Given the description of an element on the screen output the (x, y) to click on. 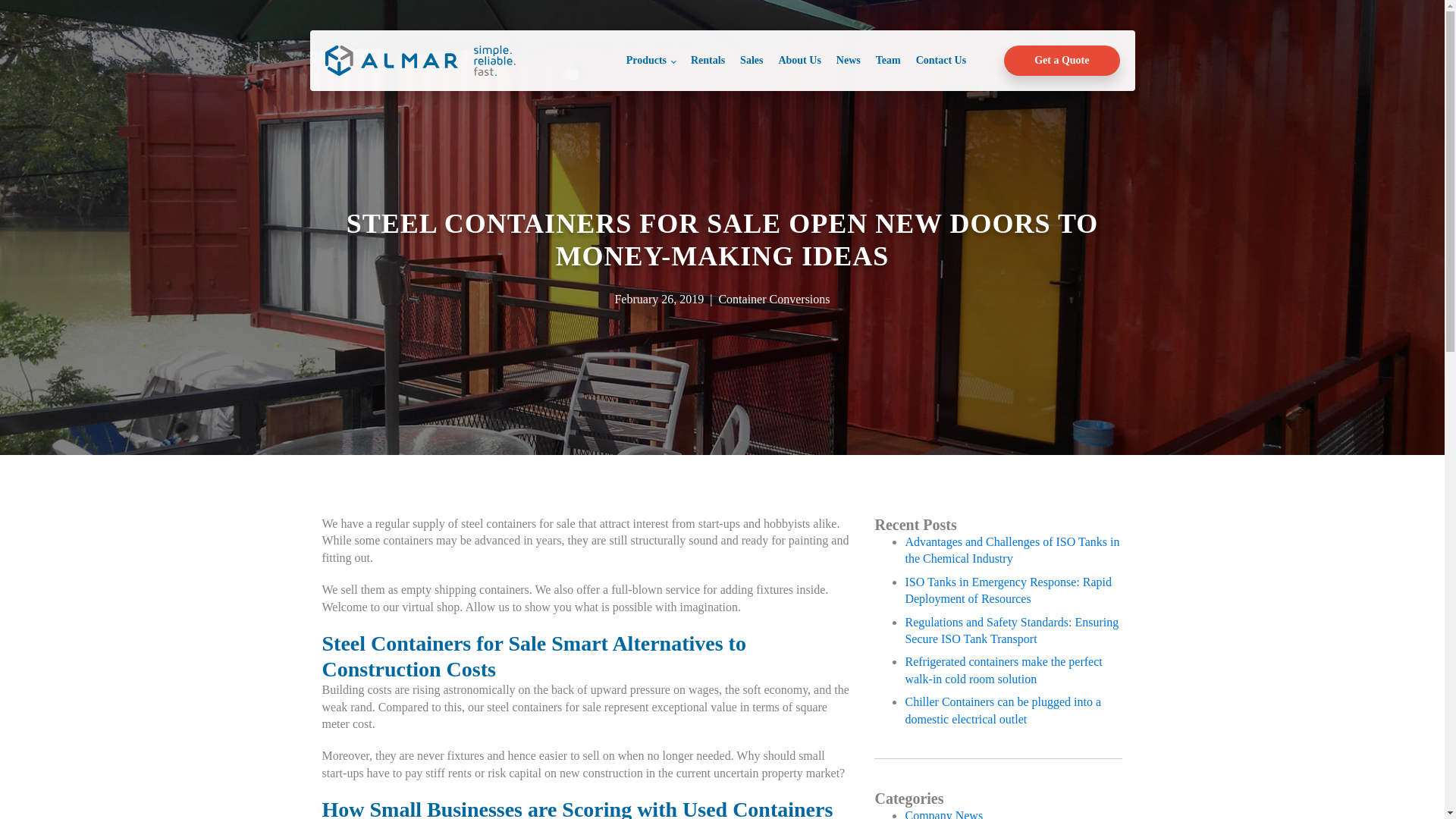
Get a Quote (1061, 60)
Container Conversions (773, 298)
About Us (799, 60)
Company News (943, 814)
Team (887, 60)
Sales (751, 60)
News (847, 60)
